Given the description of an element on the screen output the (x, y) to click on. 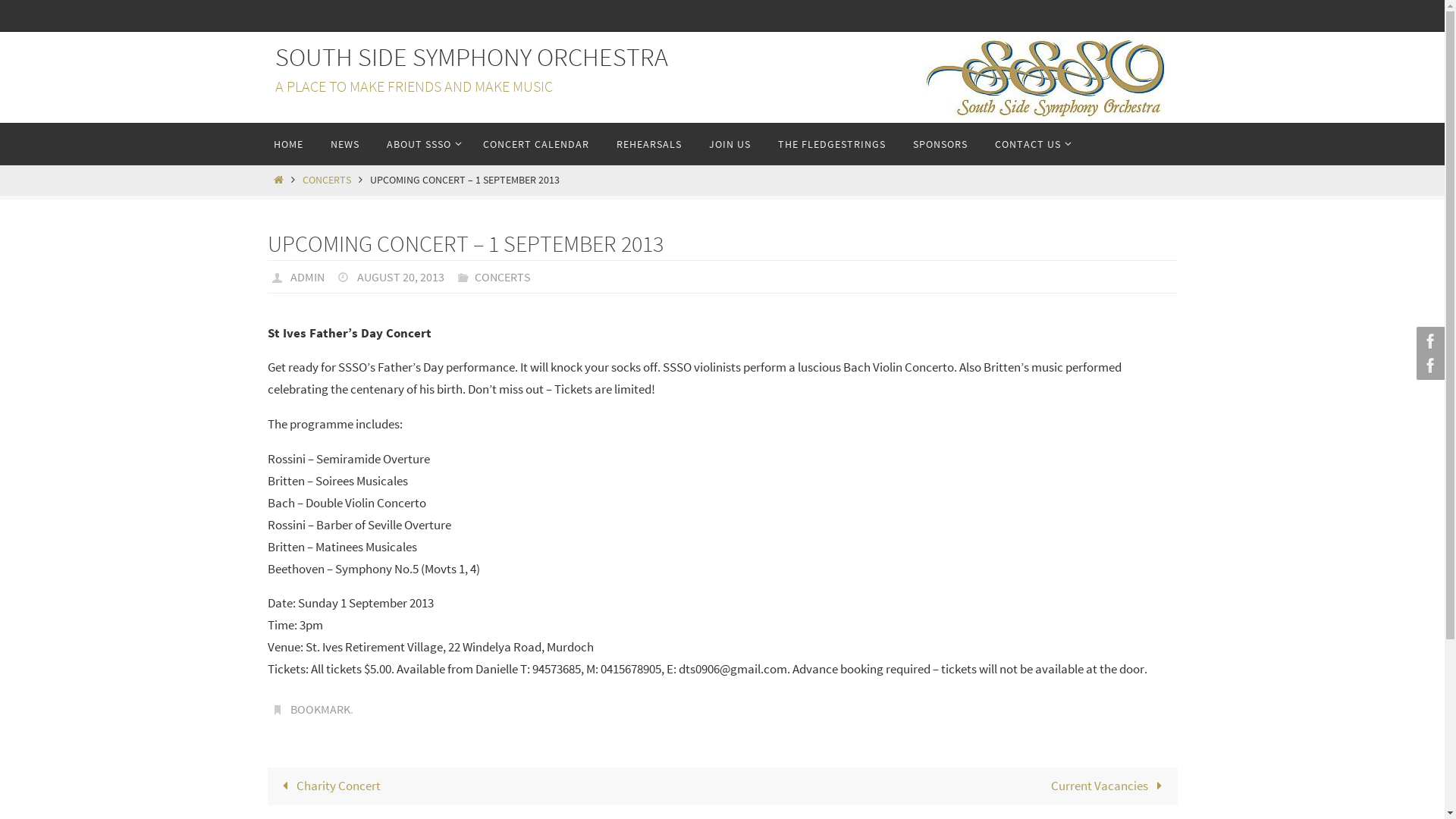
BOOKMARK Element type: text (320, 709)
AUGUST 20, 2013 Element type: text (400, 276)
Facebook Element type: hover (1428, 340)
Categories Element type: hover (464, 275)
ABOUT SSSO Element type: text (421, 143)
CONCERTS Element type: text (326, 179)
CONCERT CALENDAR Element type: text (535, 143)
JOIN US Element type: text (728, 143)
Charity Concert Element type: text (493, 786)
Facebook Element type: hover (1428, 365)
HOME Element type: text (287, 143)
ADMIN Element type: text (307, 276)
CONCERTS Element type: text (502, 276)
SPONSORS Element type: text (940, 143)
CONTACT US Element type: text (1030, 143)
 Bookmark the permalink Element type: hover (278, 708)
NEWS Element type: text (344, 143)
Date Element type: hover (344, 275)
Current Vacancies Element type: text (948, 786)
THE FLEDGESTRINGS Element type: text (831, 143)
SOUTH SIDE SYMPHONY ORCHESTRA Element type: text (470, 57)
REHEARSALS Element type: text (648, 143)
Author  Element type: hover (278, 275)
